Given the description of an element on the screen output the (x, y) to click on. 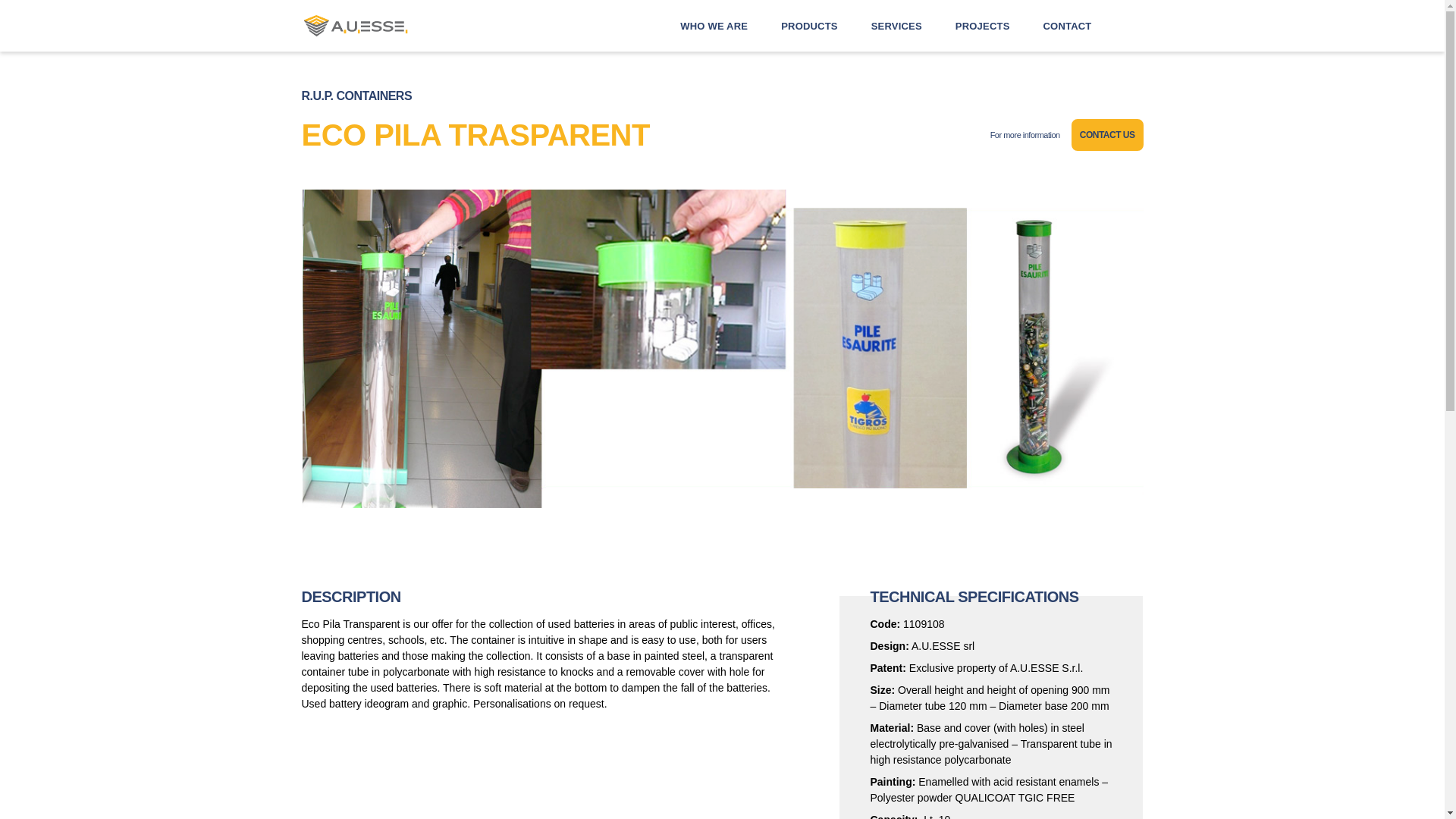
Products (809, 25)
Who we are (713, 25)
Services (895, 25)
WHO WE ARE (713, 25)
Contact (1067, 25)
SERVICES (895, 25)
PROJECTS (982, 25)
CONTACT (1067, 25)
Contact us (1106, 134)
it (1133, 25)
PRODUCTS (809, 25)
Projects (982, 25)
CONTACT US (1106, 134)
